Given the description of an element on the screen output the (x, y) to click on. 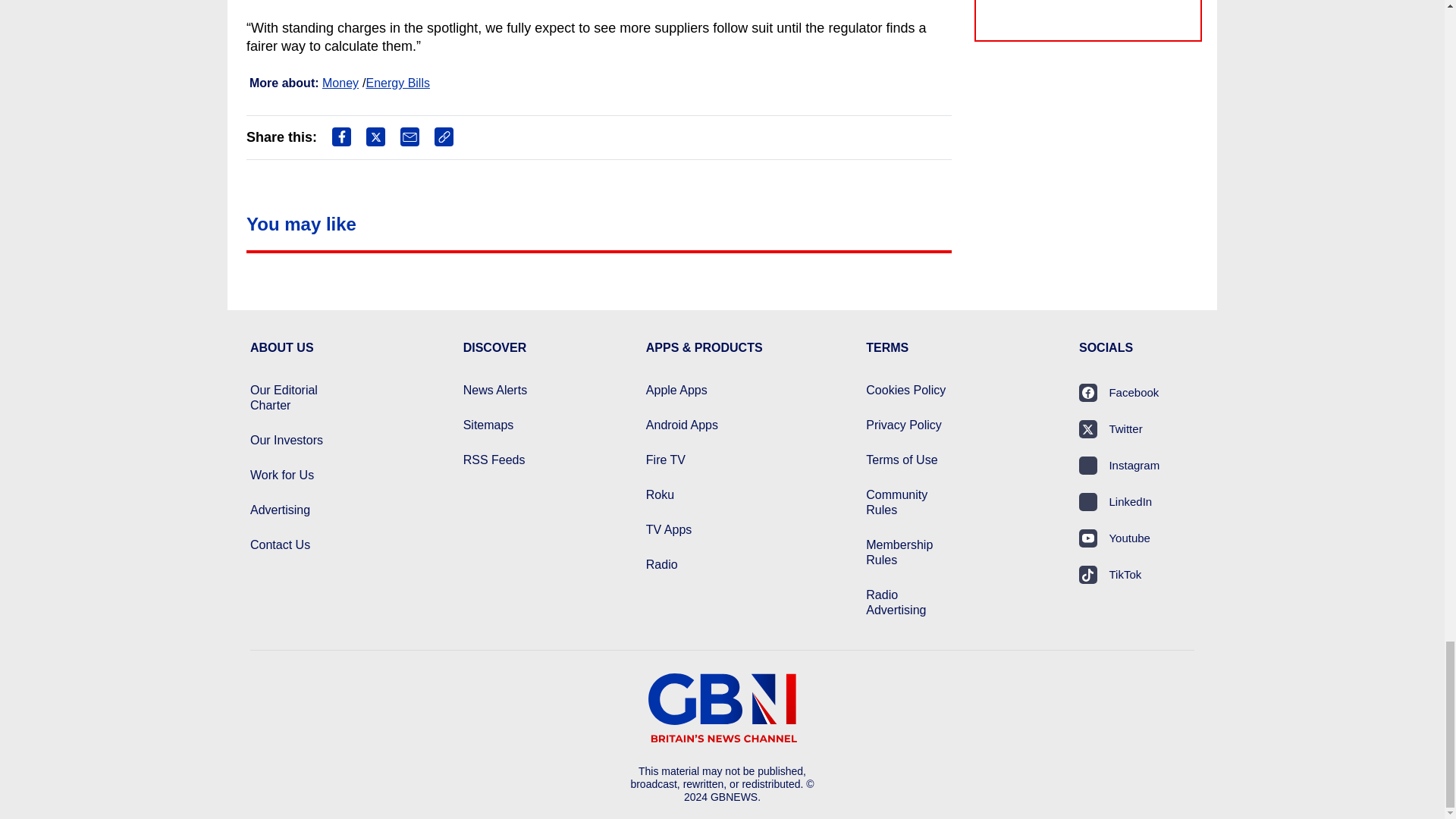
Copy this link to clipboard (442, 136)
